Given the description of an element on the screen output the (x, y) to click on. 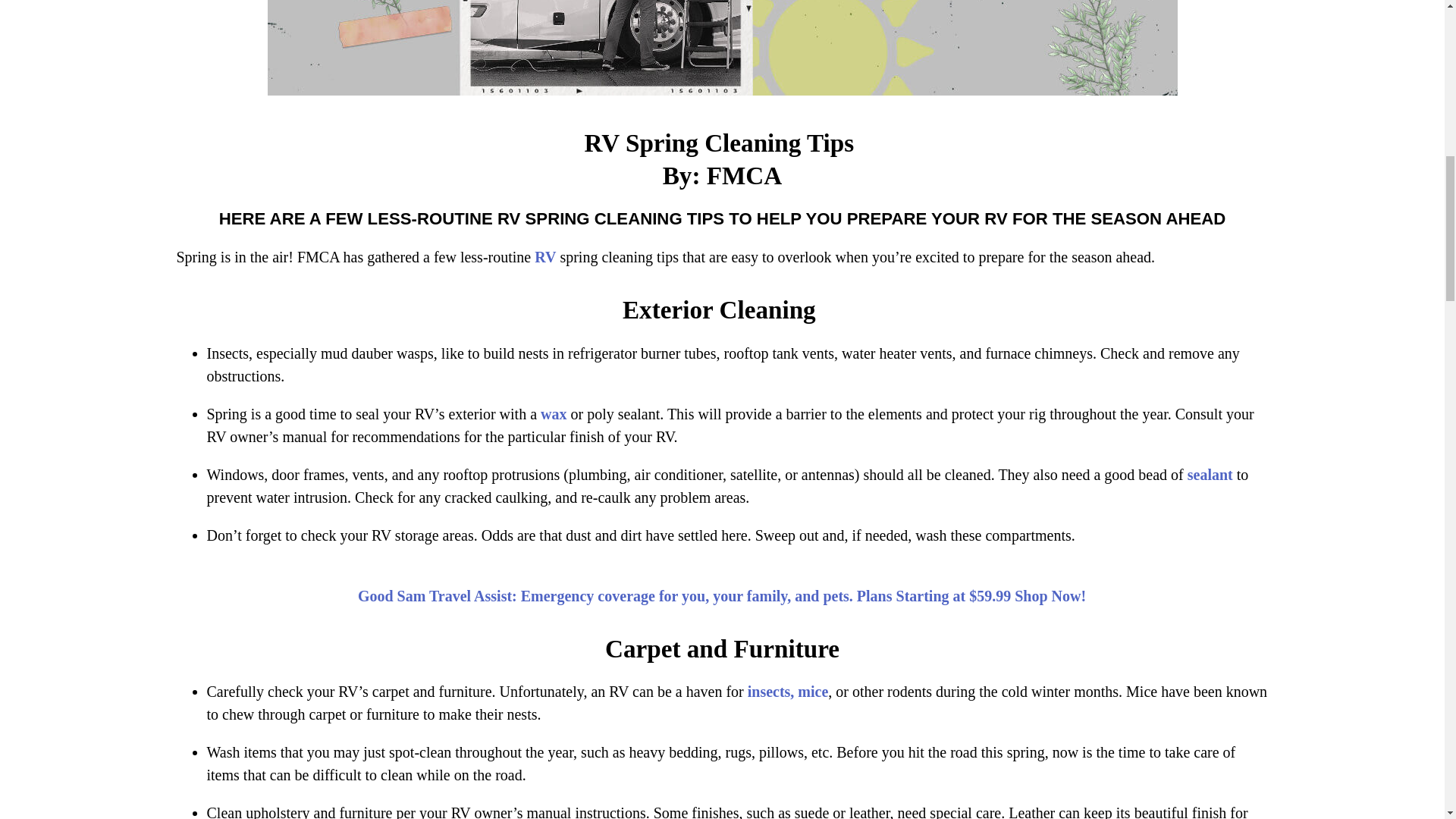
insects, mice (788, 691)
wax (553, 413)
RV (545, 256)
sealant (1210, 474)
RV Spring Cleaning Tips (721, 47)
